Given the description of an element on the screen output the (x, y) to click on. 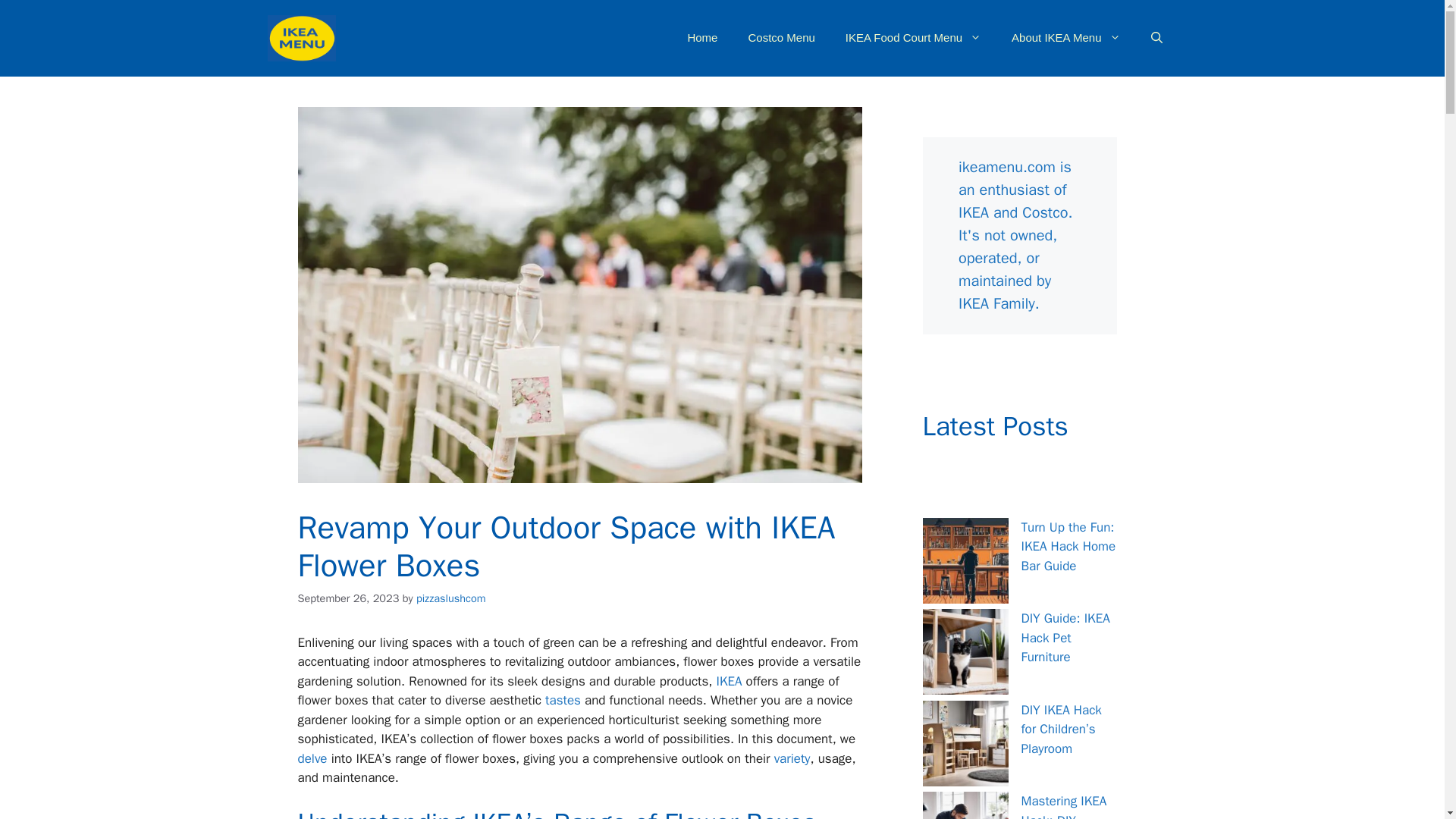
About IKEA Menu (1065, 37)
pizzaslushcom (451, 598)
View all posts by pizzaslushcom (451, 598)
Home (701, 37)
IKEA Food Court Menu (912, 37)
tastes (562, 700)
variety (792, 758)
Costco Menu (780, 37)
IKEA (729, 681)
delve (311, 758)
